Given the description of an element on the screen output the (x, y) to click on. 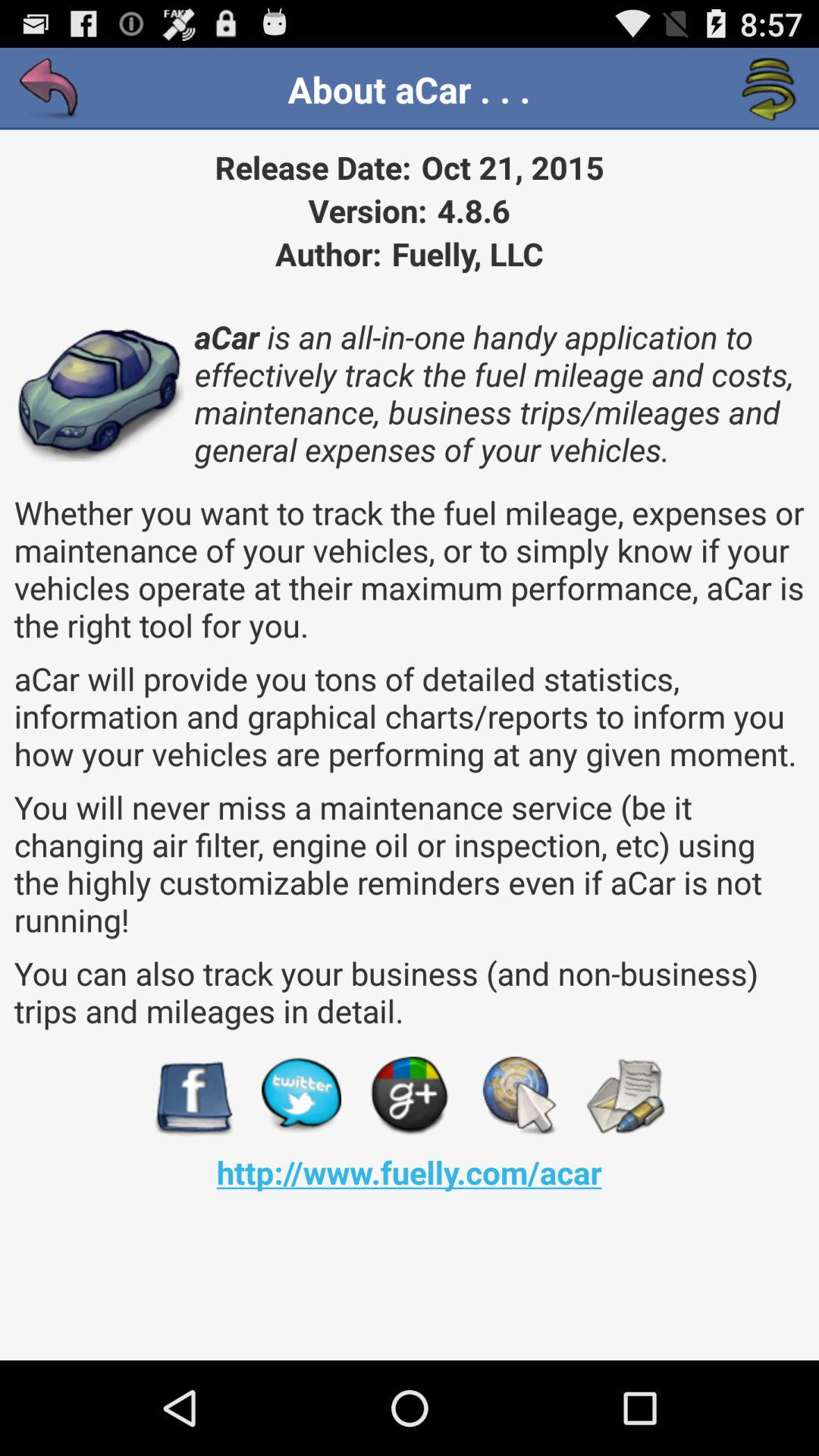
press the icon next to the about acar . . . item (768, 89)
